Given the description of an element on the screen output the (x, y) to click on. 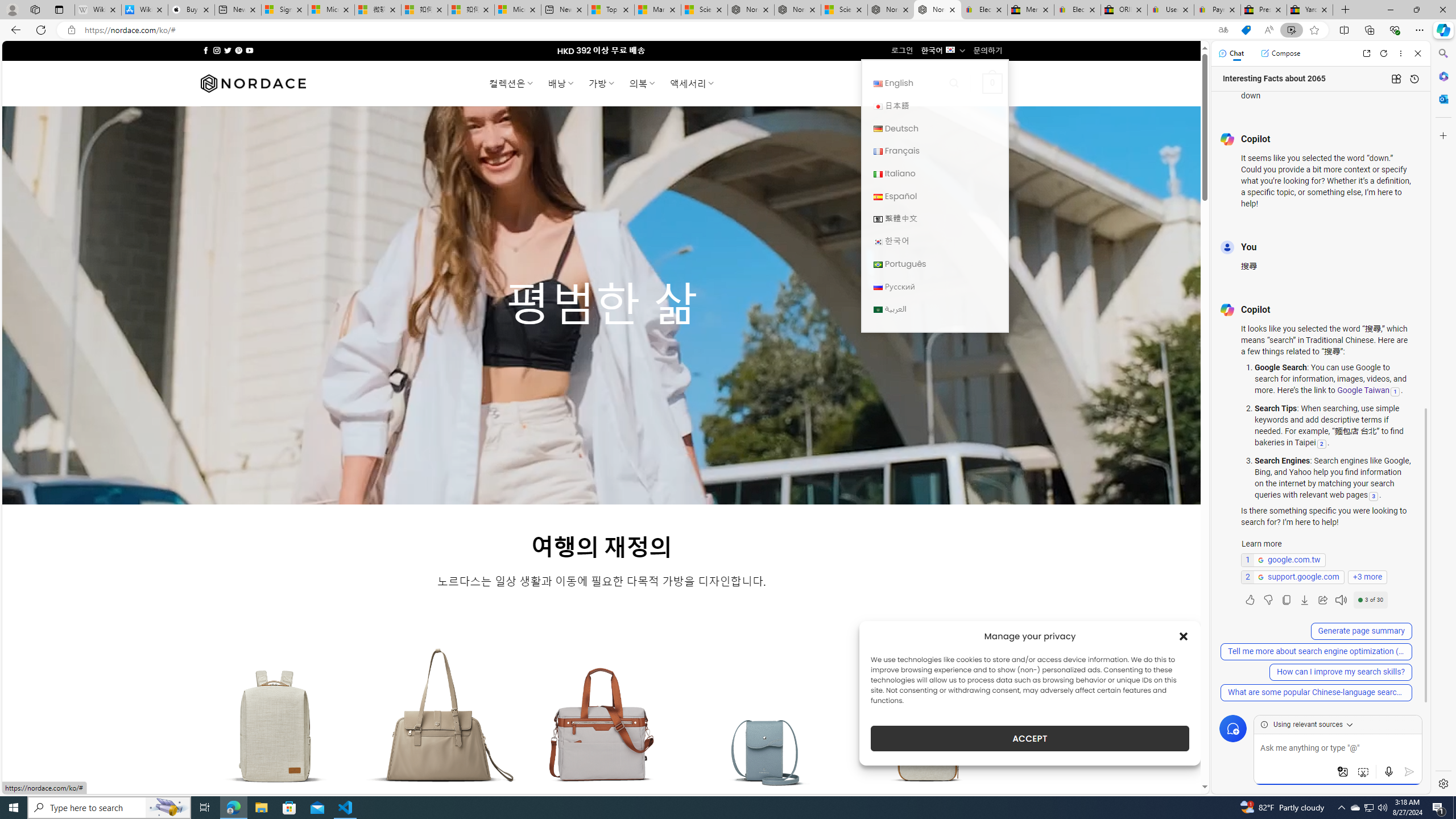
 0  (992, 83)
 Italiano (934, 173)
